Given the description of an element on the screen output the (x, y) to click on. 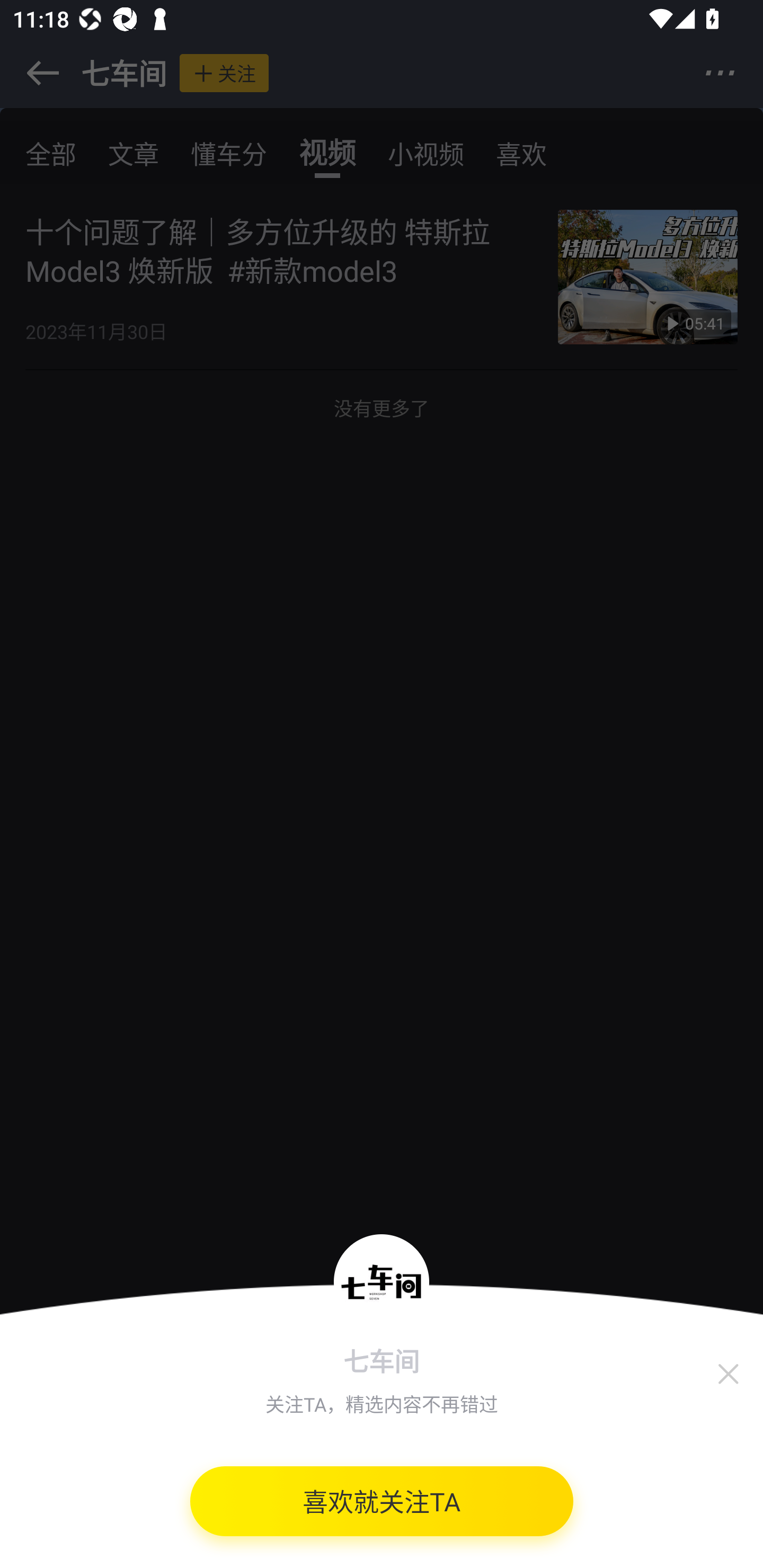
喜欢就关注TA (381, 1507)
